Given the description of an element on the screen output the (x, y) to click on. 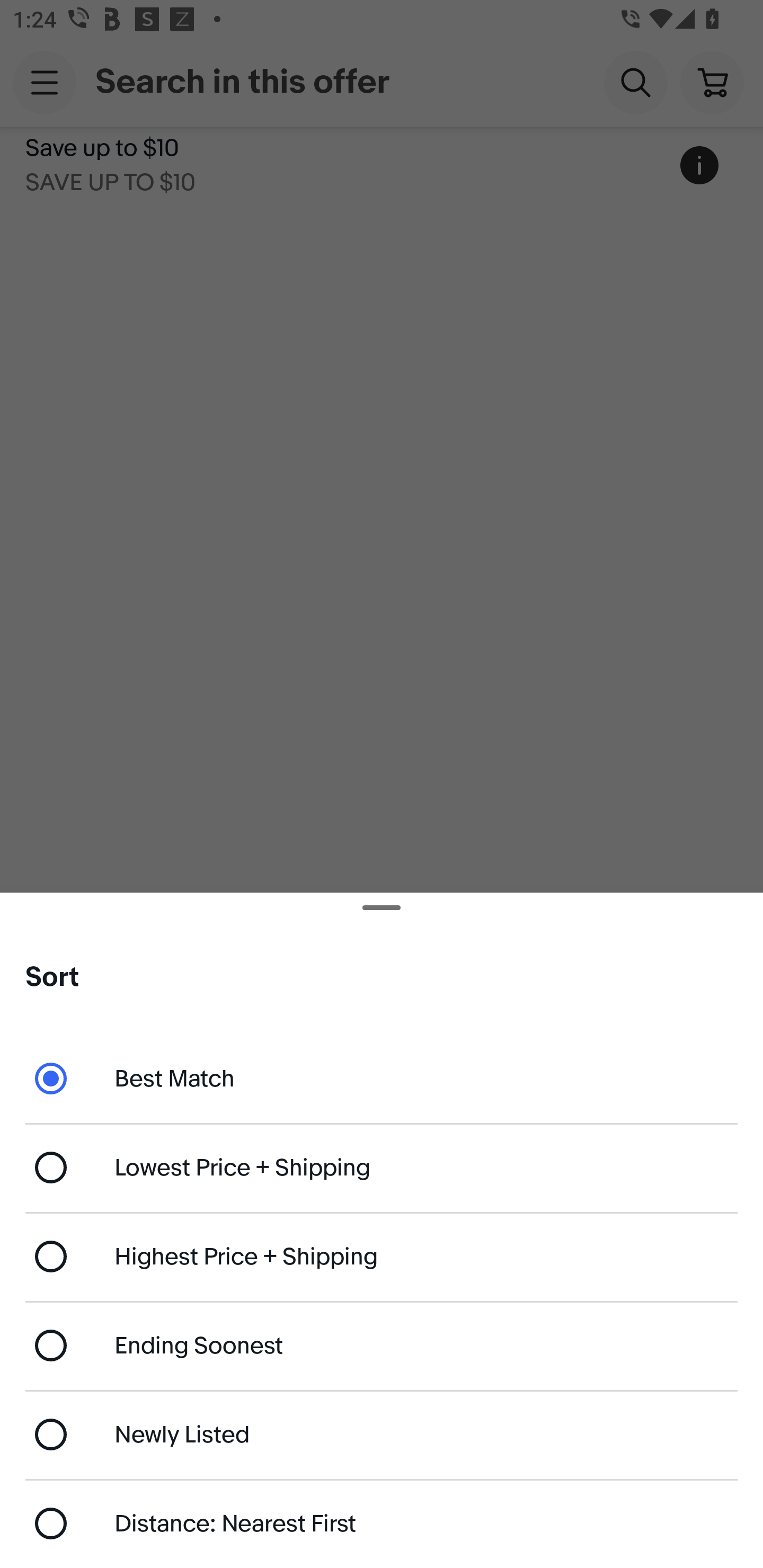
Best Match - currently selected Best Match (381, 1077)
Lowest Price + Shipping (381, 1167)
Highest Price + Shipping (381, 1256)
Ending Soonest (381, 1345)
Newly Listed (381, 1433)
Distance: Nearest First (381, 1523)
